Given the description of an element on the screen output the (x, y) to click on. 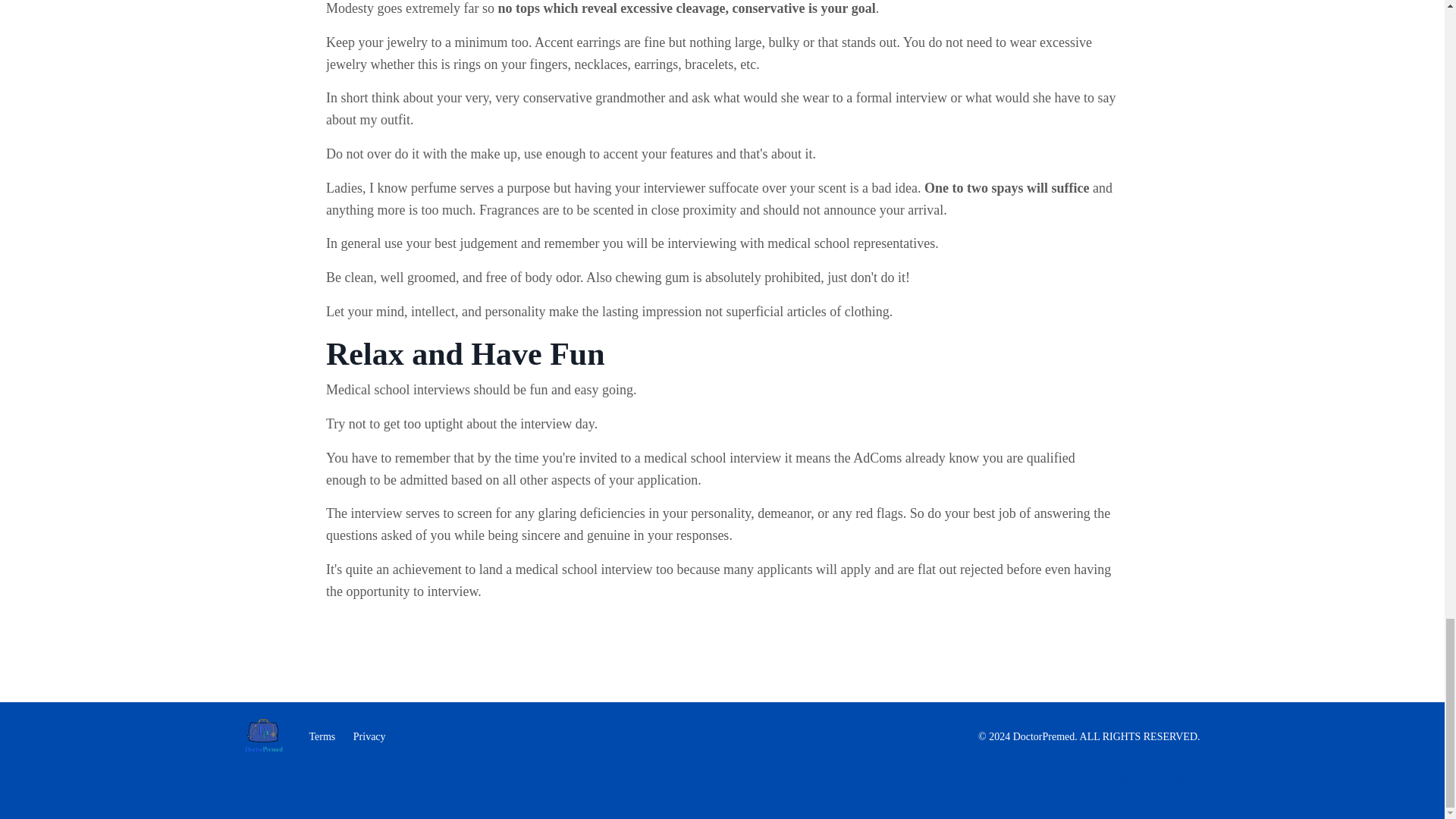
Powered by Kajabi (1158, 779)
Privacy (369, 736)
Terms (322, 736)
